Given the description of an element on the screen output the (x, y) to click on. 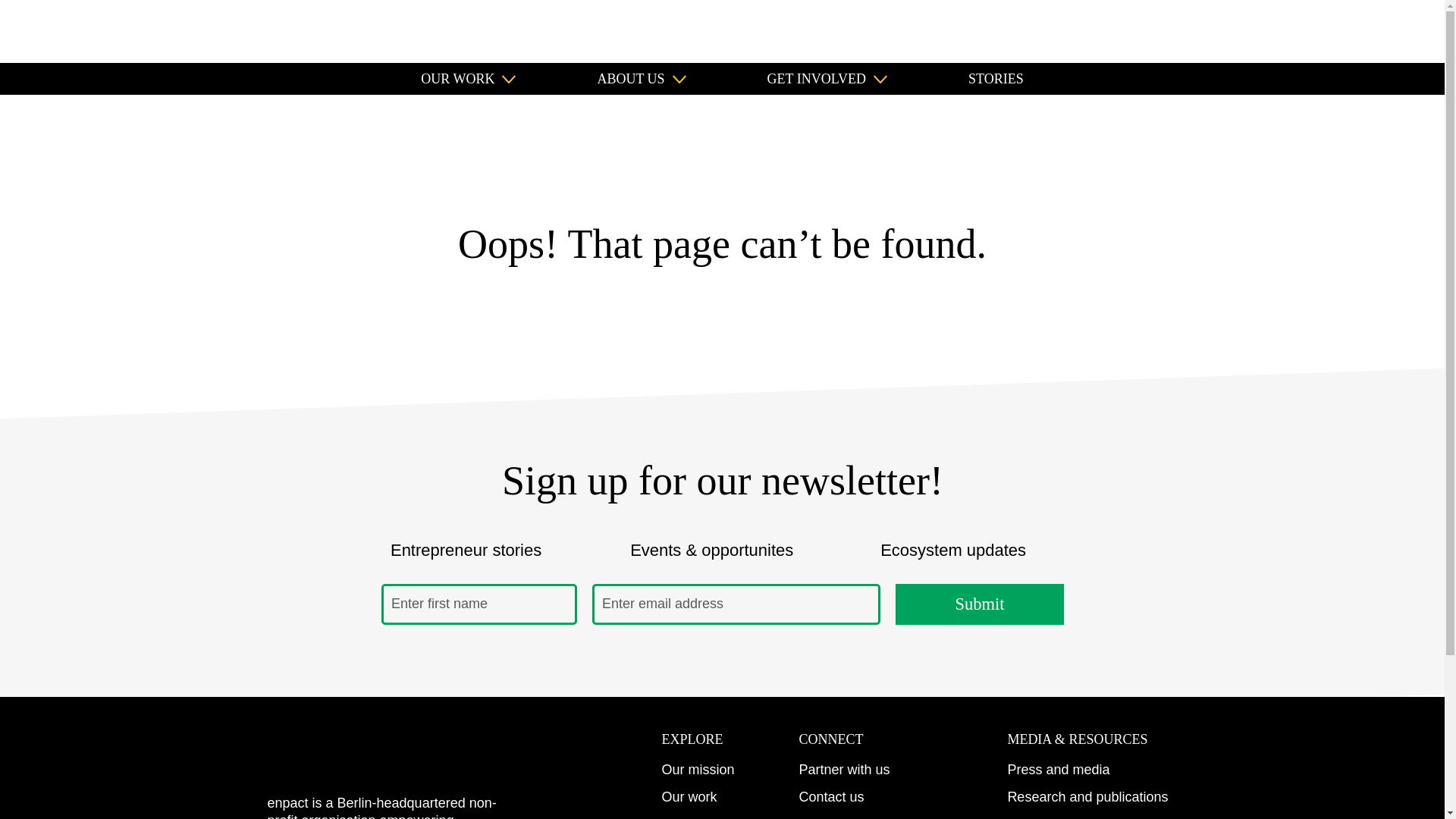
Instagram (1298, 31)
Our work (688, 796)
Our mission (697, 769)
STORIES (995, 79)
Twitter (1398, 31)
GET INVOLVED (827, 79)
empowering entrepreneurship (78, 30)
Team (677, 817)
ABOUT US (640, 79)
Partner with us (843, 769)
LinkedIn (1331, 31)
Facebook (1364, 31)
OUR WORK (467, 79)
Submit (978, 603)
